Given the description of an element on the screen output the (x, y) to click on. 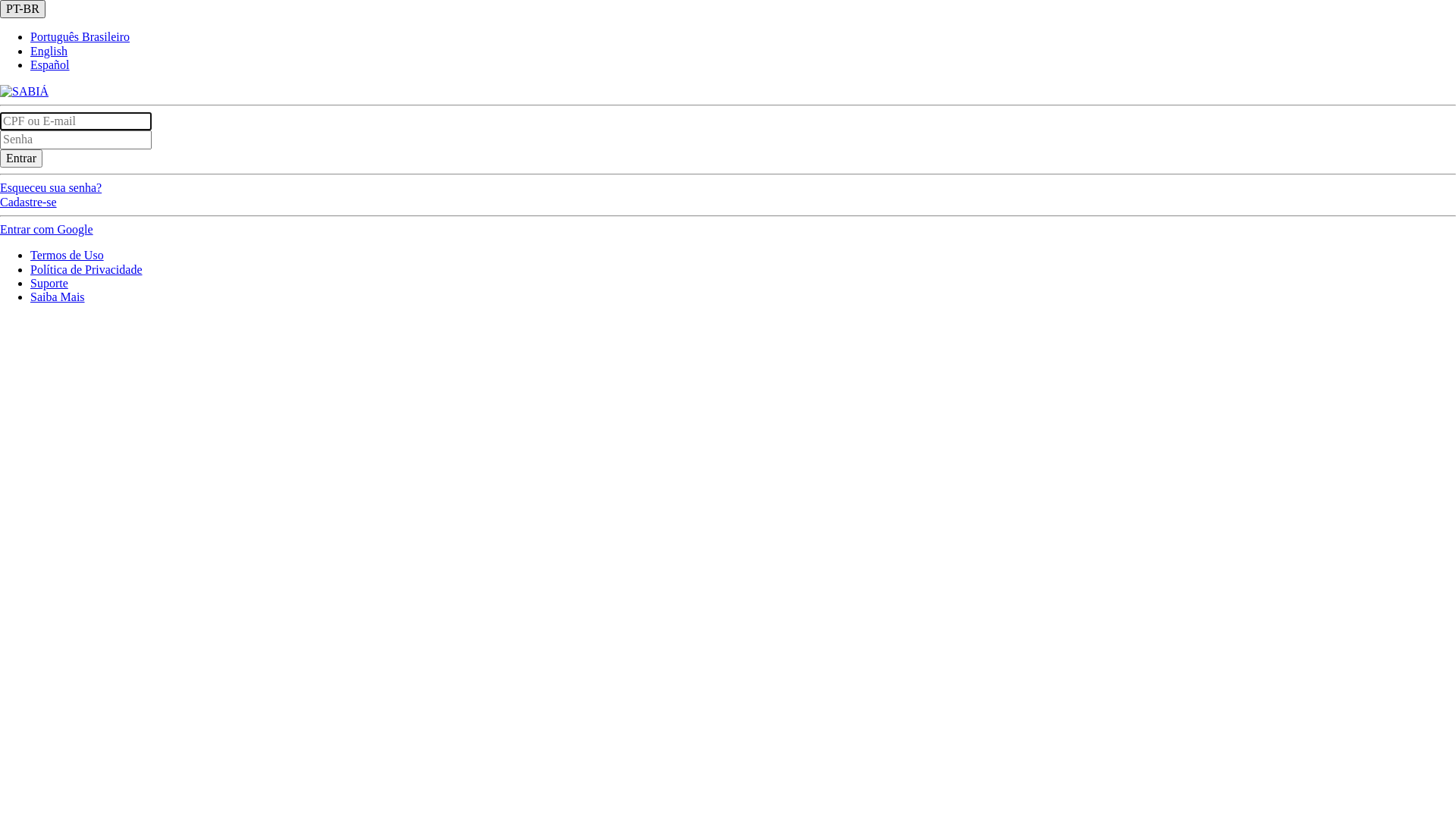
Cadastre-se Element type: text (28, 201)
PT-BR Element type: text (22, 9)
Entrar Element type: text (21, 158)
Entrar com Google Element type: text (46, 229)
Esqueceu sua senha? Element type: text (50, 187)
Termos de Uso Element type: text (66, 254)
Suporte Element type: text (49, 282)
Saiba Mais Element type: text (57, 296)
English Element type: text (48, 50)
